Given the description of an element on the screen output the (x, y) to click on. 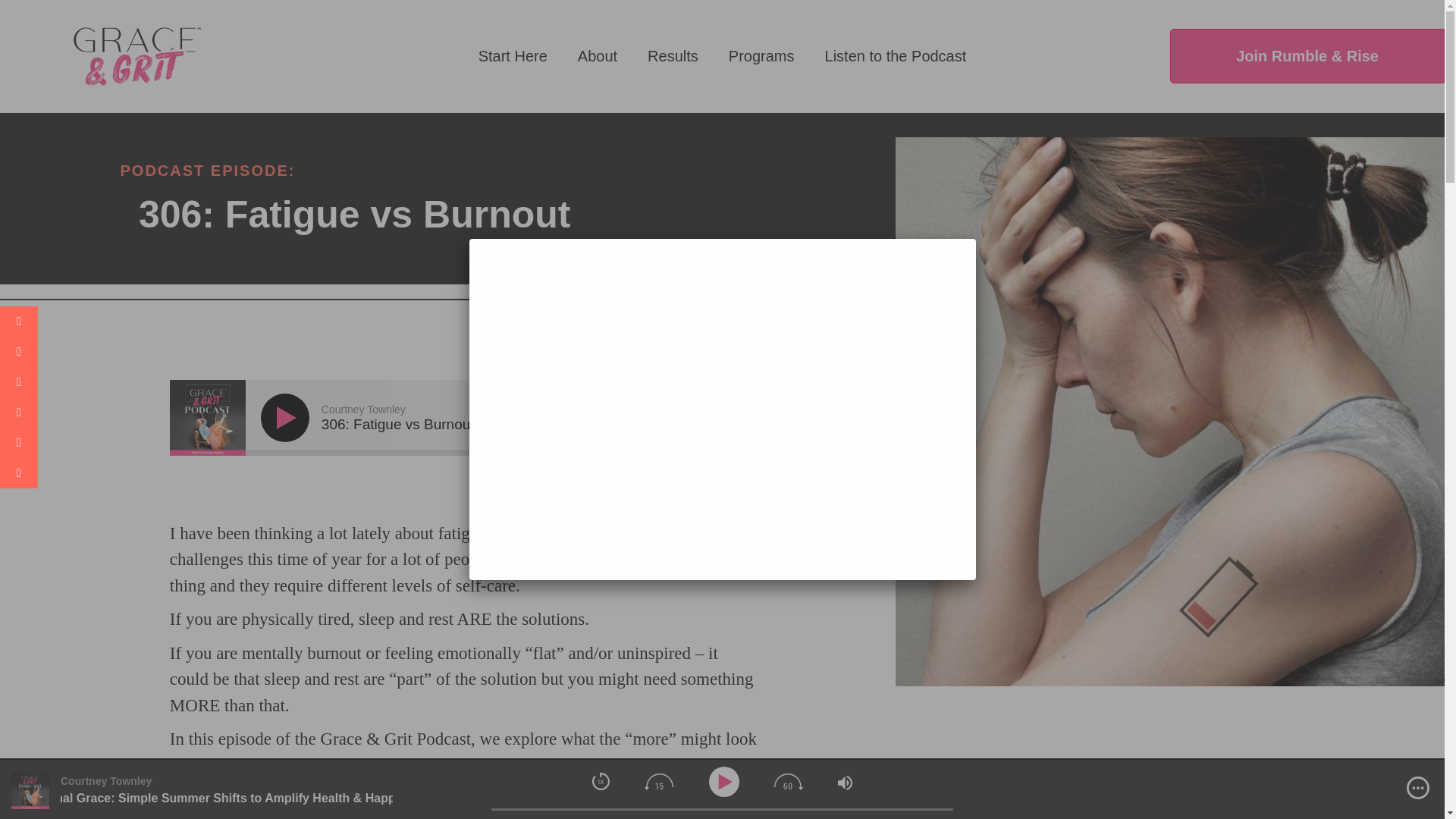
Start Here (512, 55)
More (727, 419)
Forward 60 seconds (788, 781)
Listen to the Podcast (895, 55)
Results (673, 55)
More (1417, 787)
Programs (761, 55)
Speed: Normal (601, 781)
About (597, 55)
Back 15 seconds (658, 781)
